Given the description of an element on the screen output the (x, y) to click on. 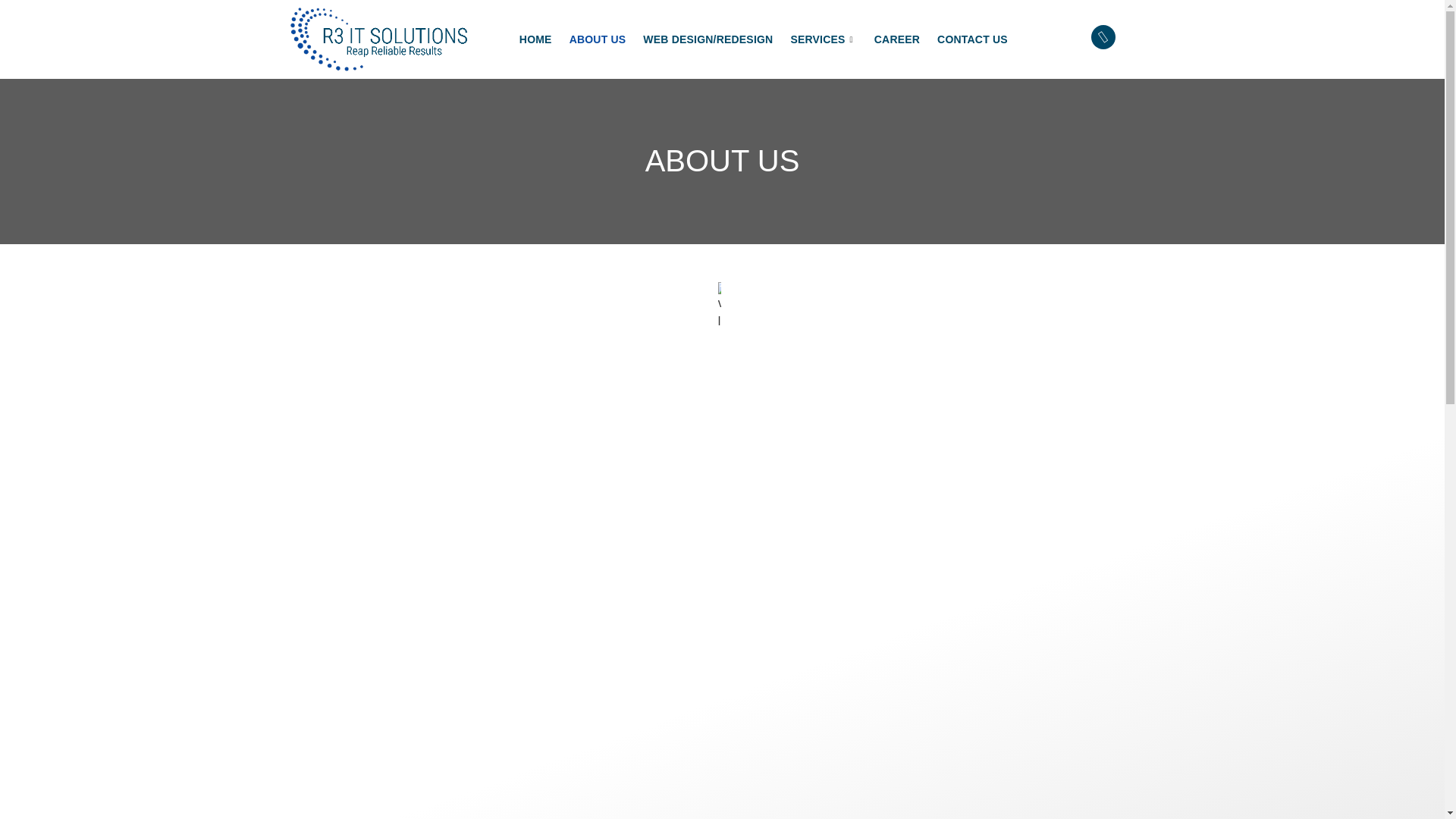
CAREER (906, 39)
ABOUT US (606, 39)
CONTACT US (981, 39)
SERVICES (831, 39)
